Given the description of an element on the screen output the (x, y) to click on. 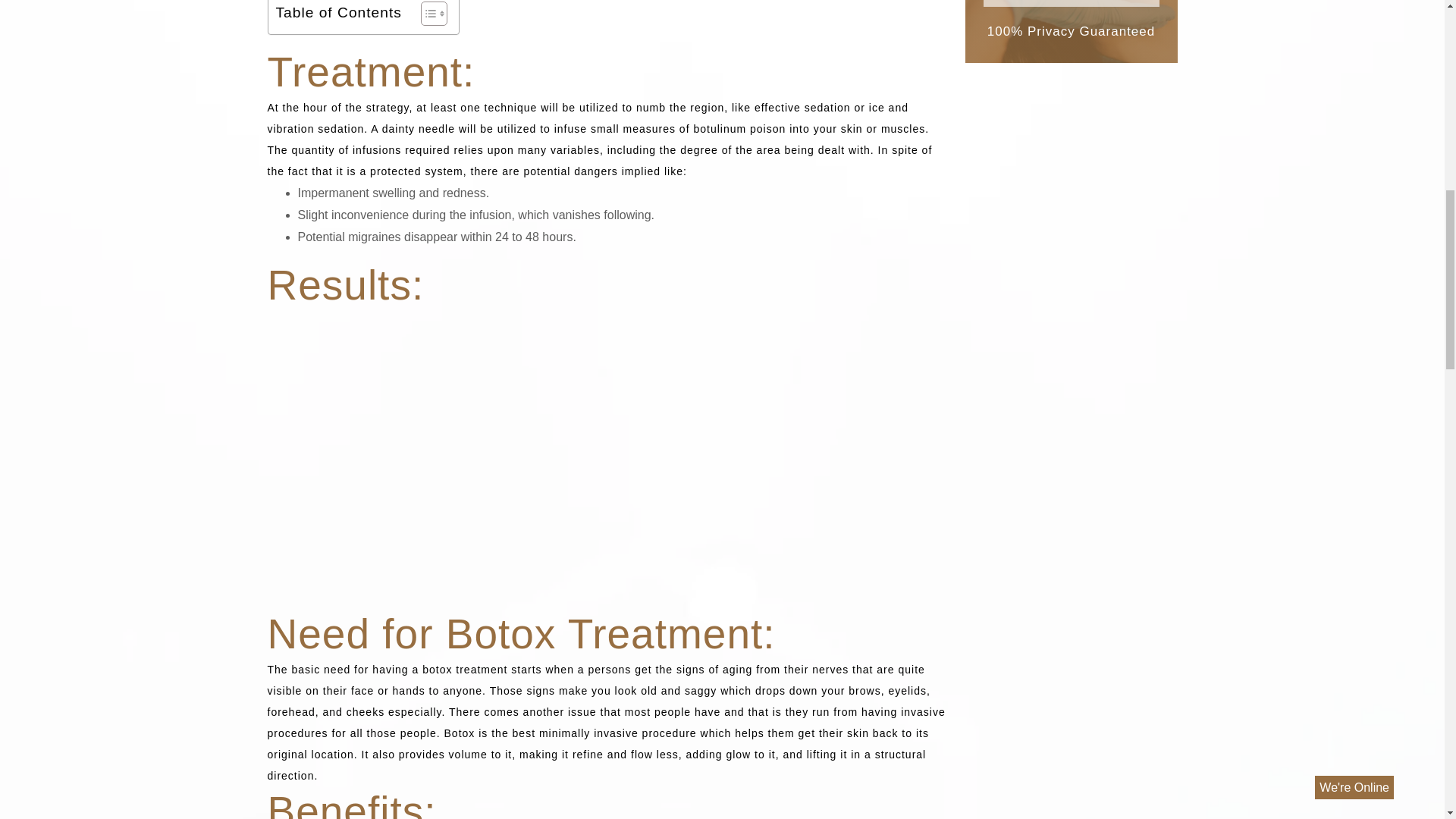
Send message (1070, 3)
